Given the description of an element on the screen output the (x, y) to click on. 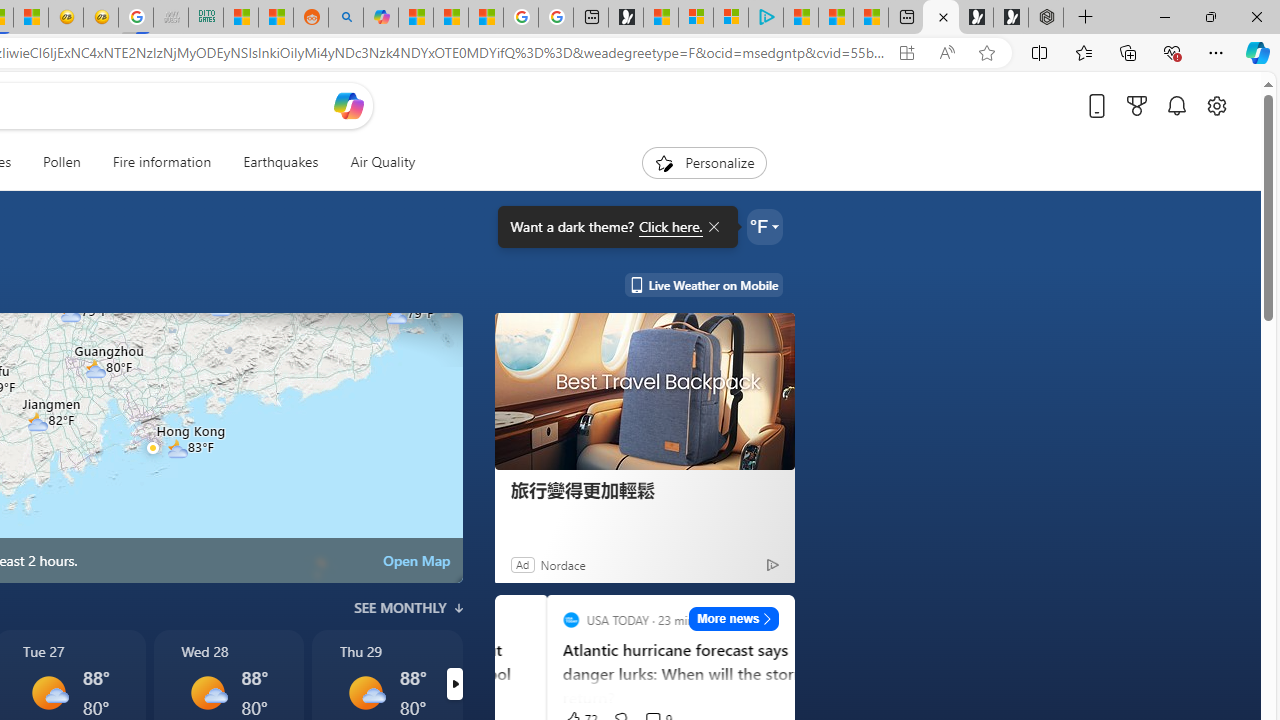
Air Quality (382, 162)
Pollen (61, 162)
Fire information (162, 162)
Open settings (1216, 105)
See Monthly (408, 607)
